Given the description of an element on the screen output the (x, y) to click on. 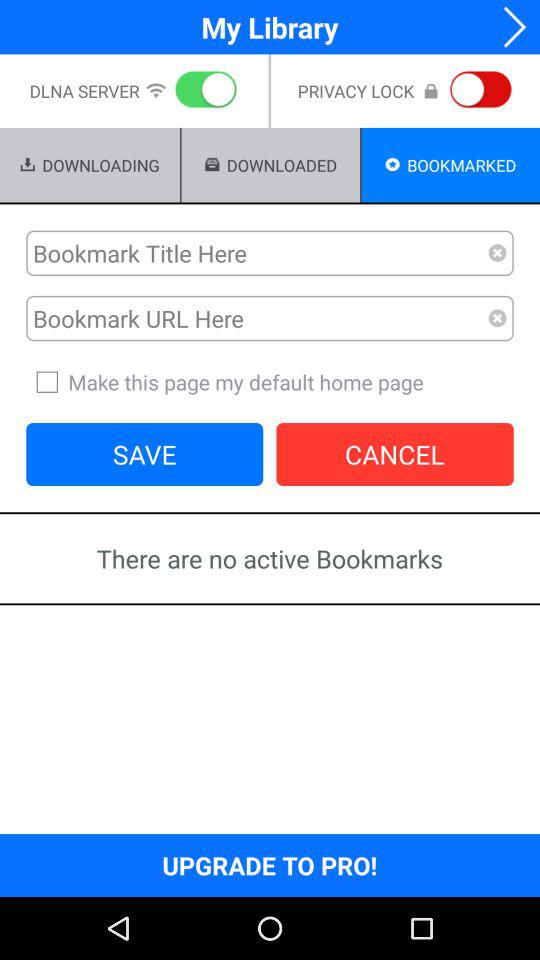
tap icon above the bookmarked item (476, 91)
